Given the description of an element on the screen output the (x, y) to click on. 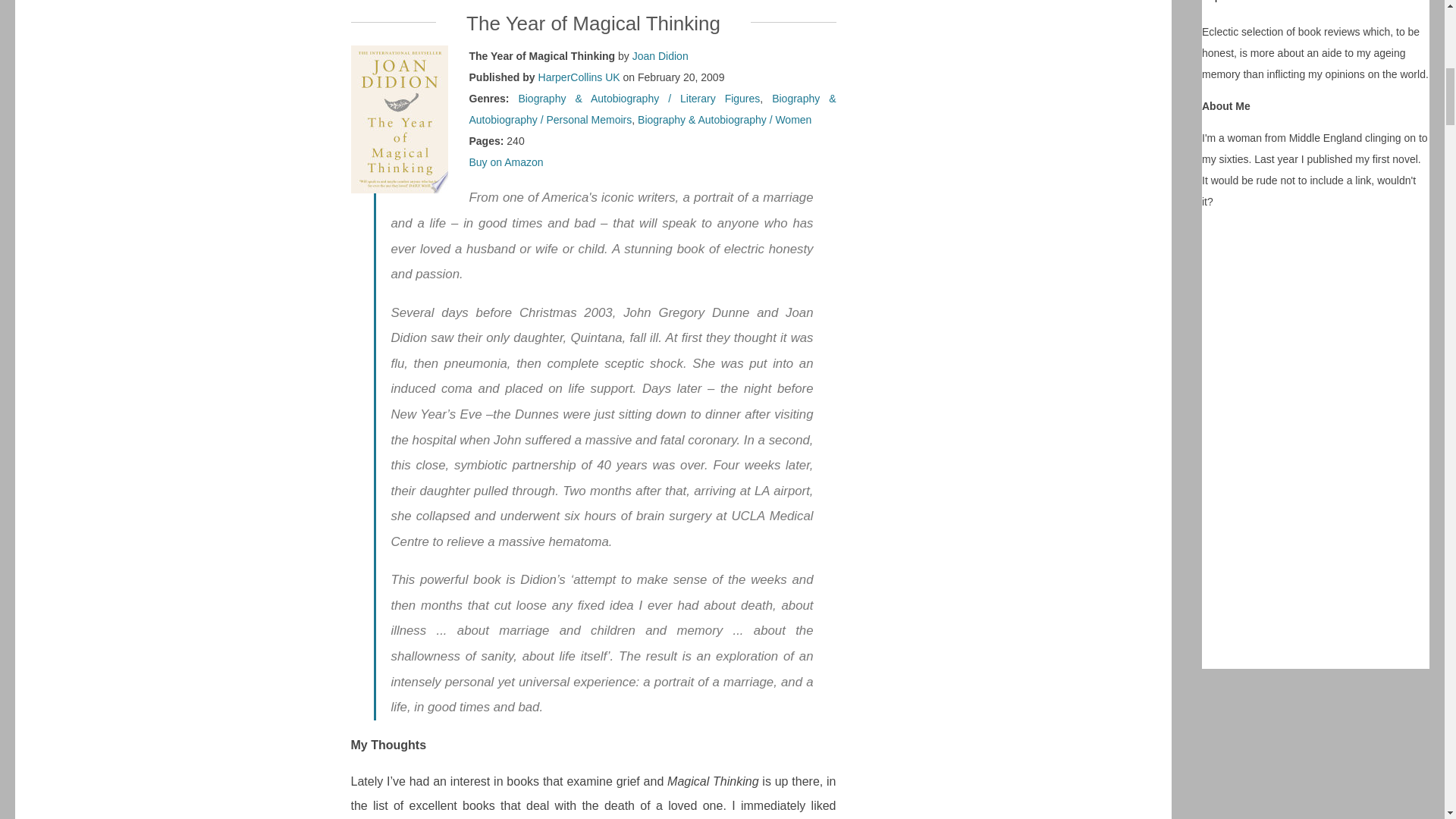
The Year of Magical Thinking (592, 23)
HarperCollins UK (579, 77)
Joan Didion (659, 55)
Buy on Amazon (505, 162)
